Given the description of an element on the screen output the (x, y) to click on. 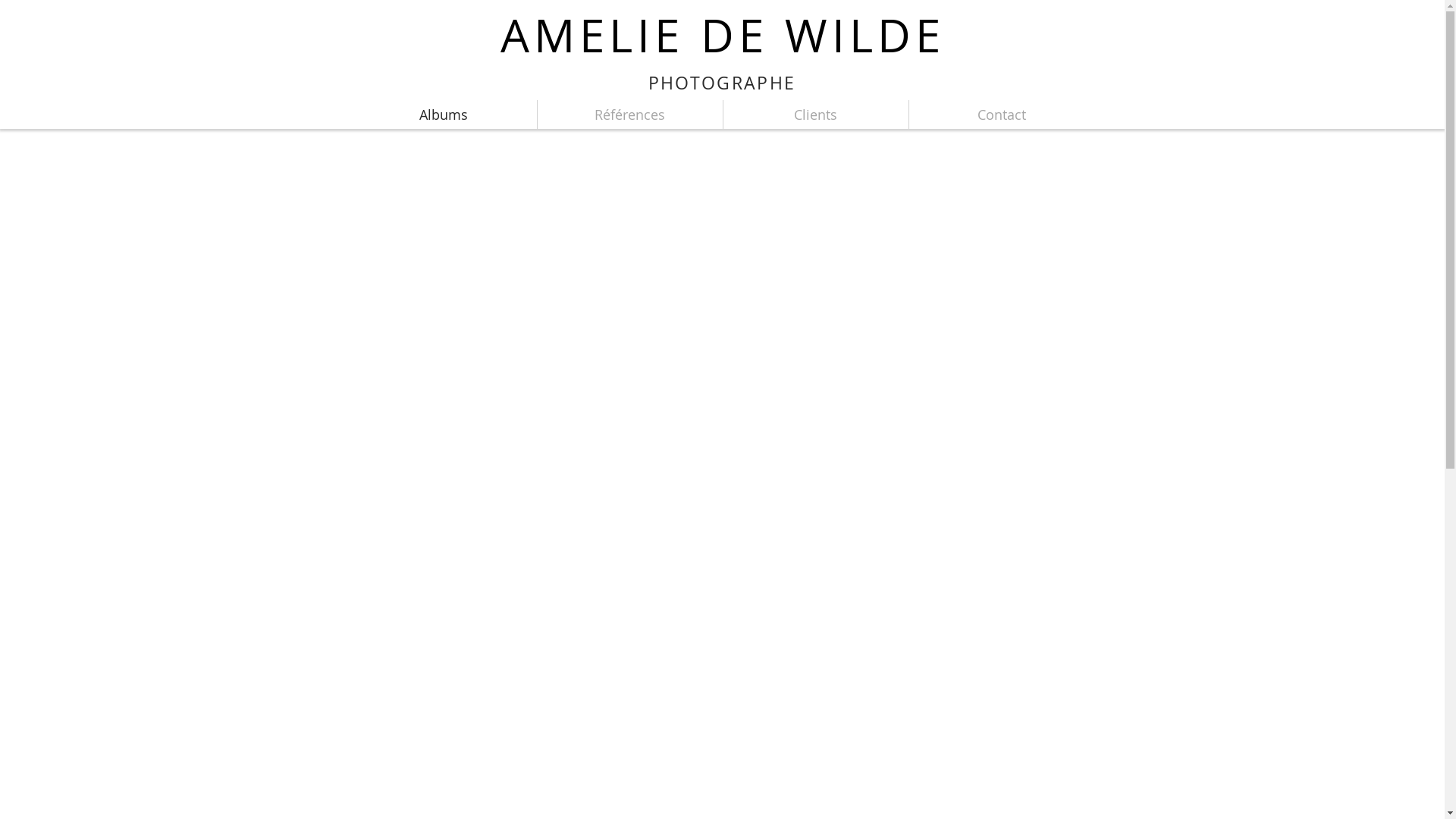
Contact Element type: text (1000, 114)
Albums Element type: text (443, 114)
Clients Element type: text (815, 114)
